Given the description of an element on the screen output the (x, y) to click on. 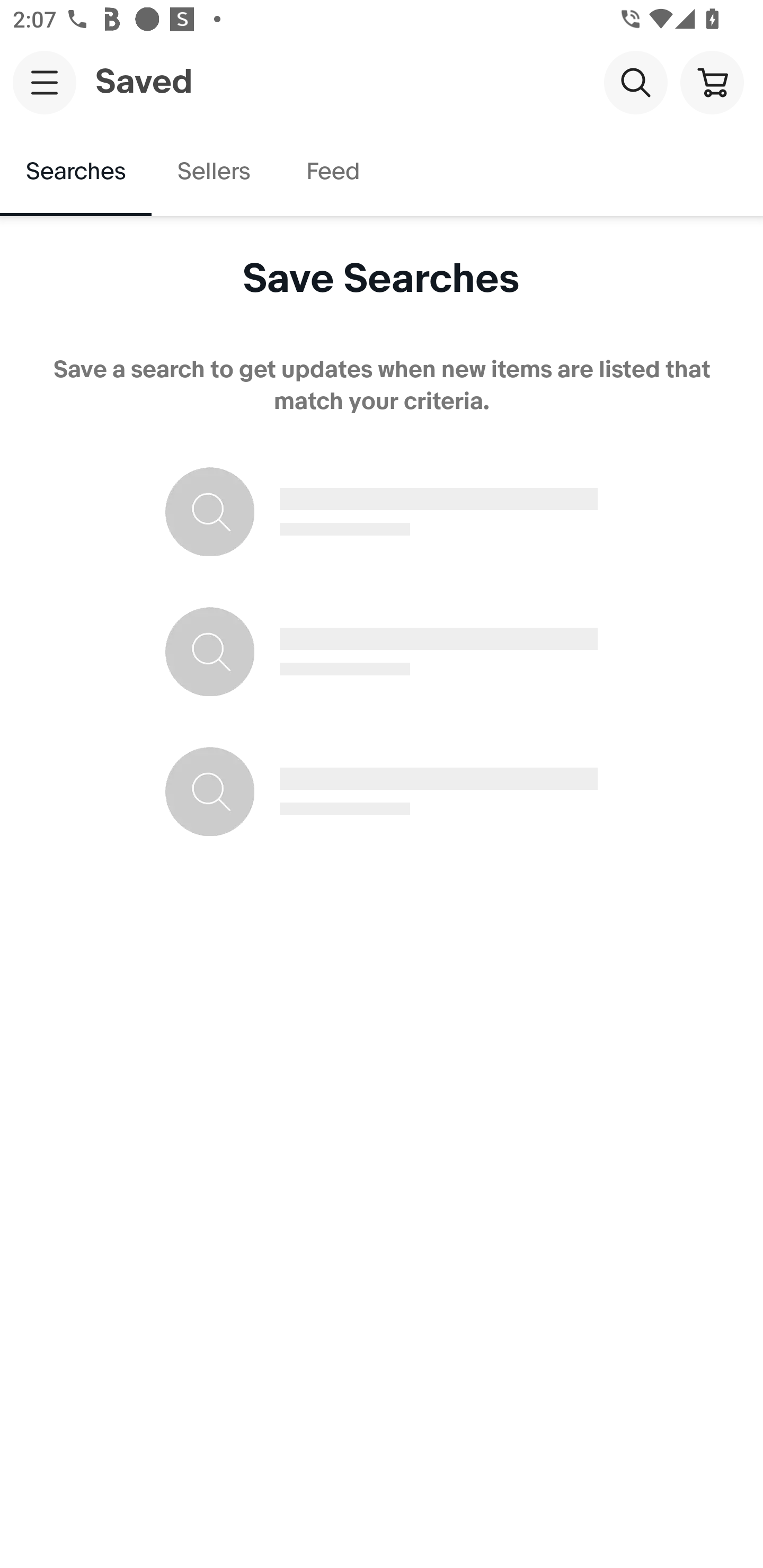
Main navigation, open (44, 82)
Search (635, 81)
Cart button shopping cart (711, 81)
Sellers (213, 171)
Feed (332, 171)
